Given the description of an element on the screen output the (x, y) to click on. 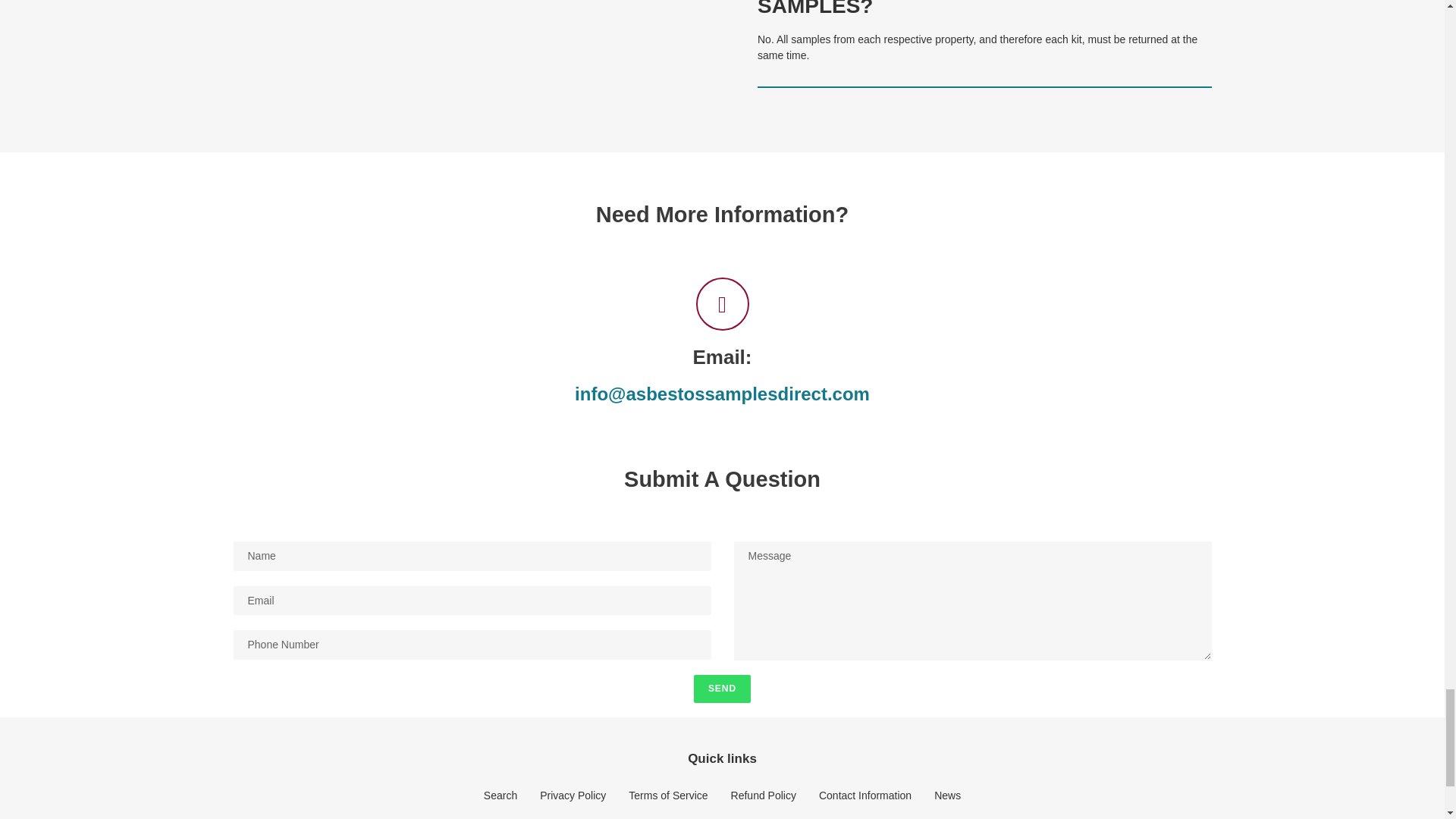
Terms of Service (667, 795)
Search (499, 795)
Contact Information (864, 795)
Privacy Policy (572, 795)
Send (722, 687)
Send (722, 687)
Refund Policy (763, 795)
News (947, 795)
